Given the description of an element on the screen output the (x, y) to click on. 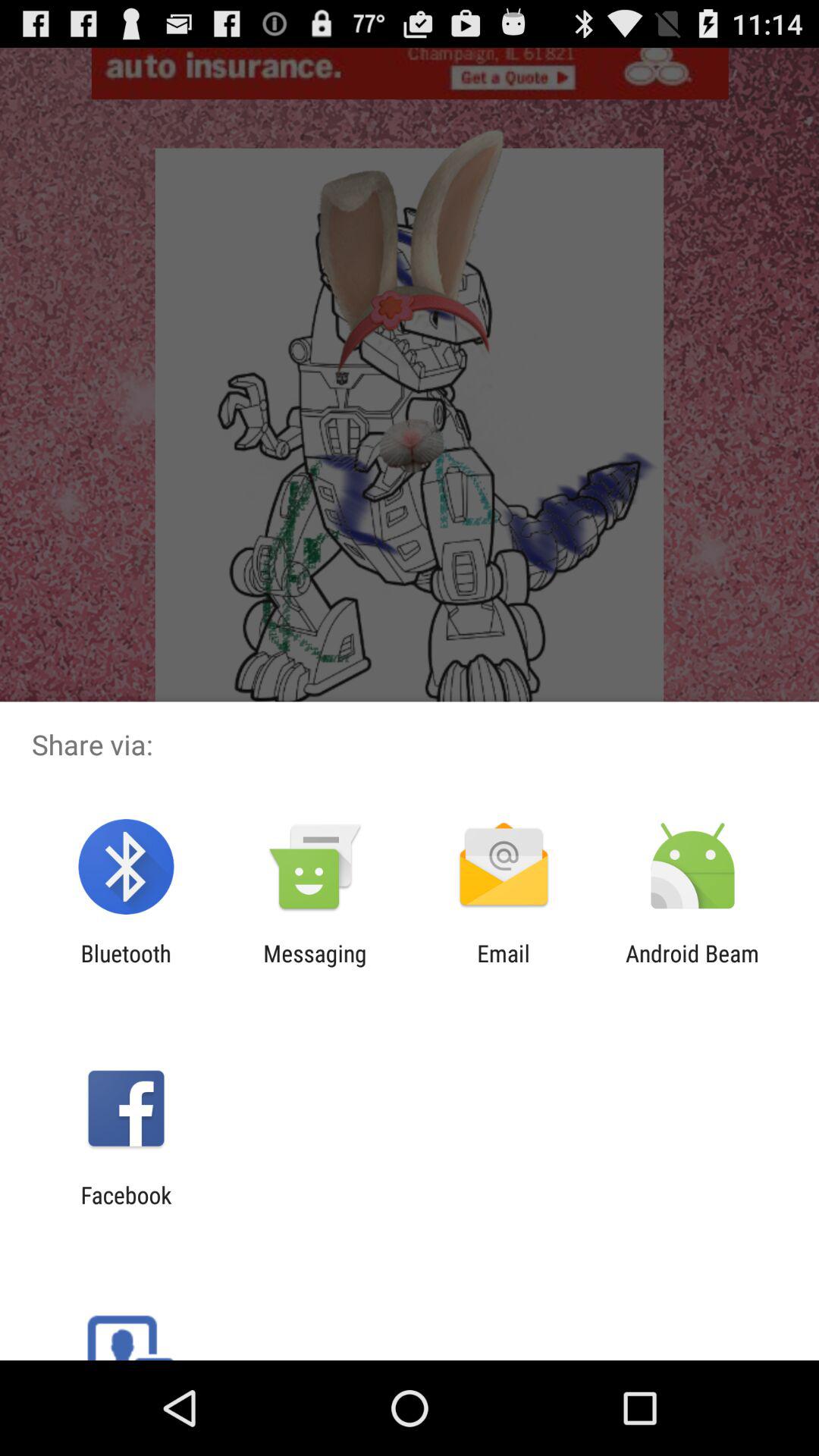
choose the icon next to the messaging app (503, 966)
